Given the description of an element on the screen output the (x, y) to click on. 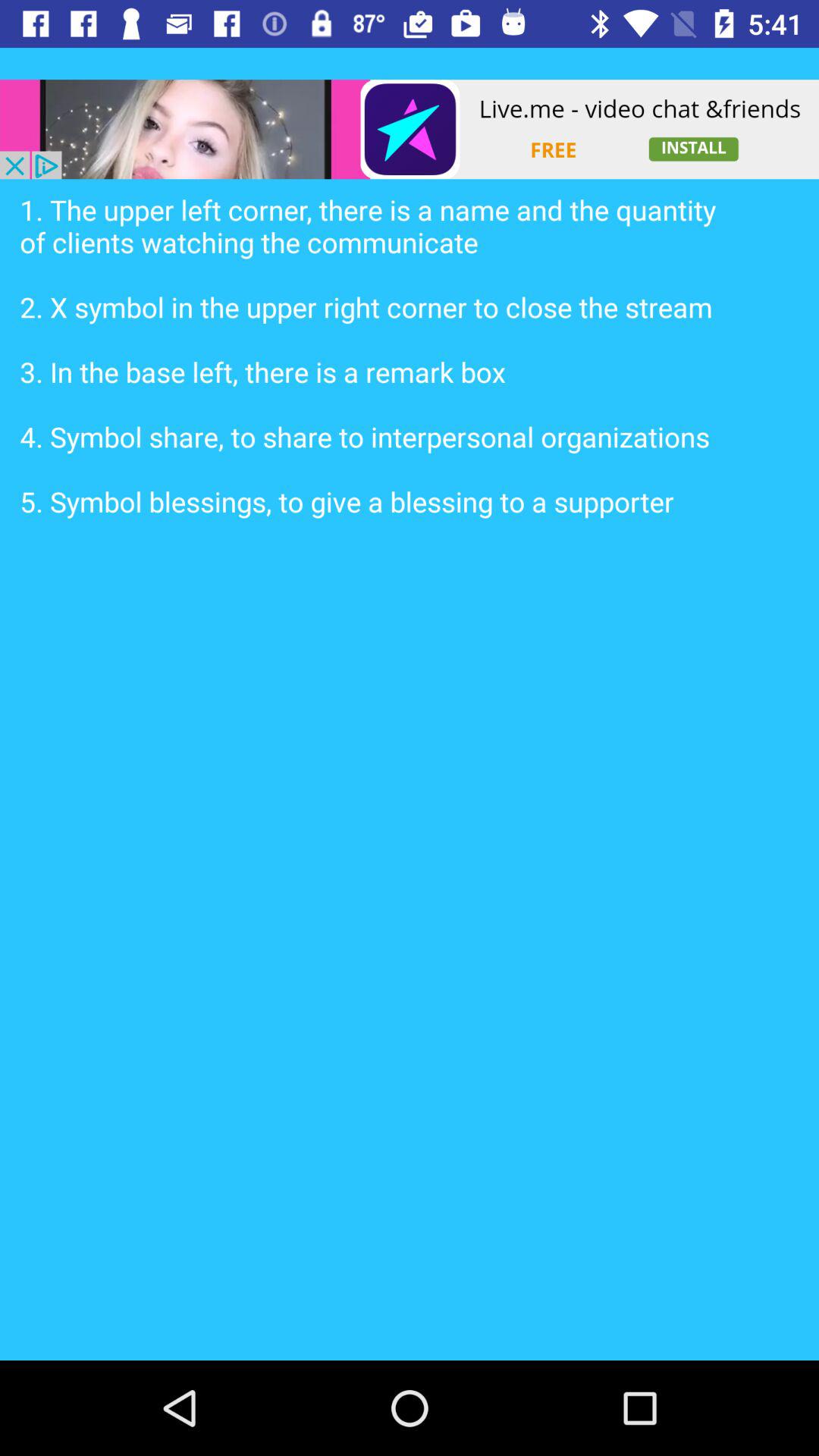
open advertisement (409, 129)
